Given the description of an element on the screen output the (x, y) to click on. 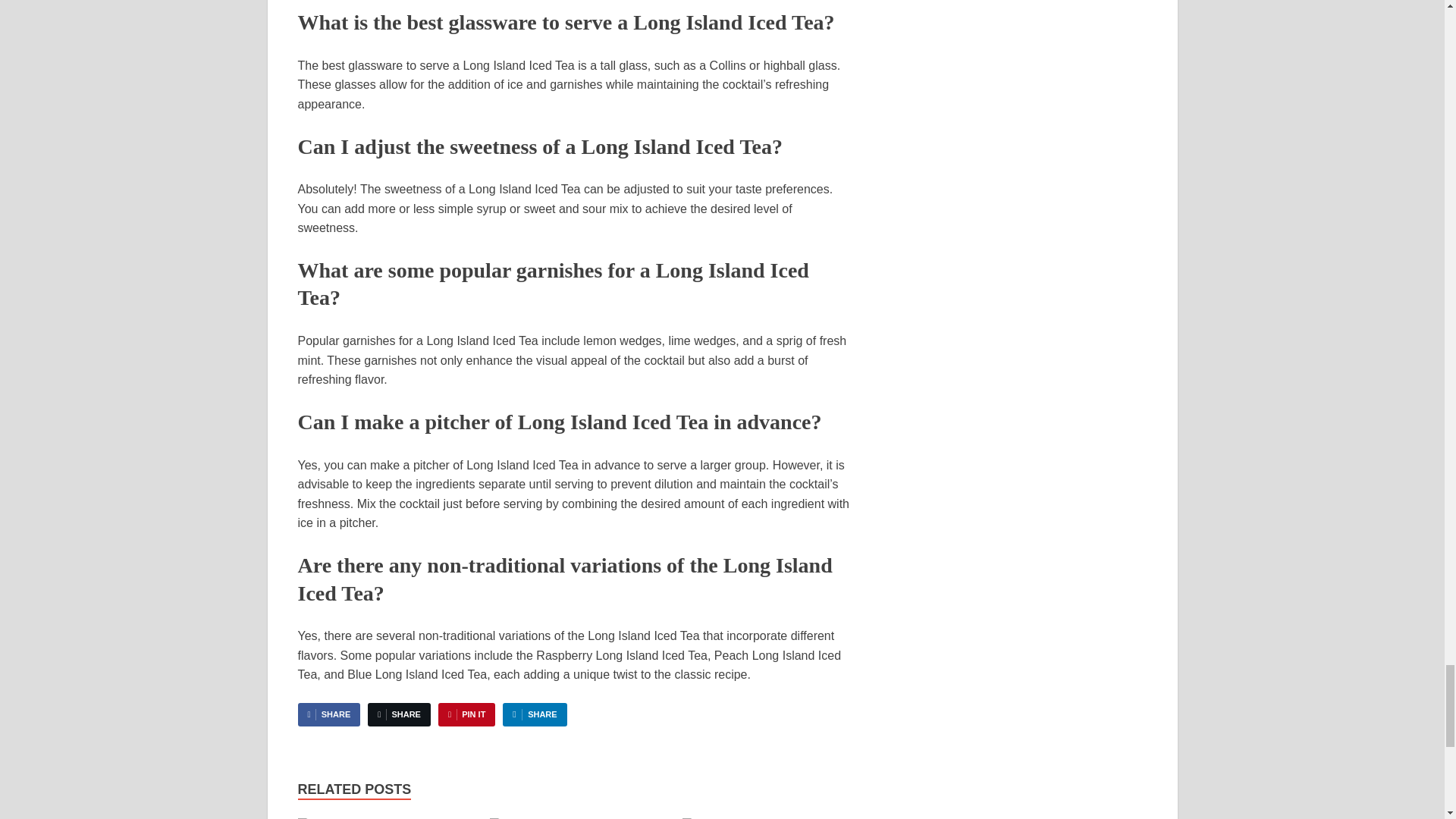
SHARE (328, 714)
SHARE (534, 714)
PIN IT (466, 714)
SHARE (399, 714)
